Given the description of an element on the screen output the (x, y) to click on. 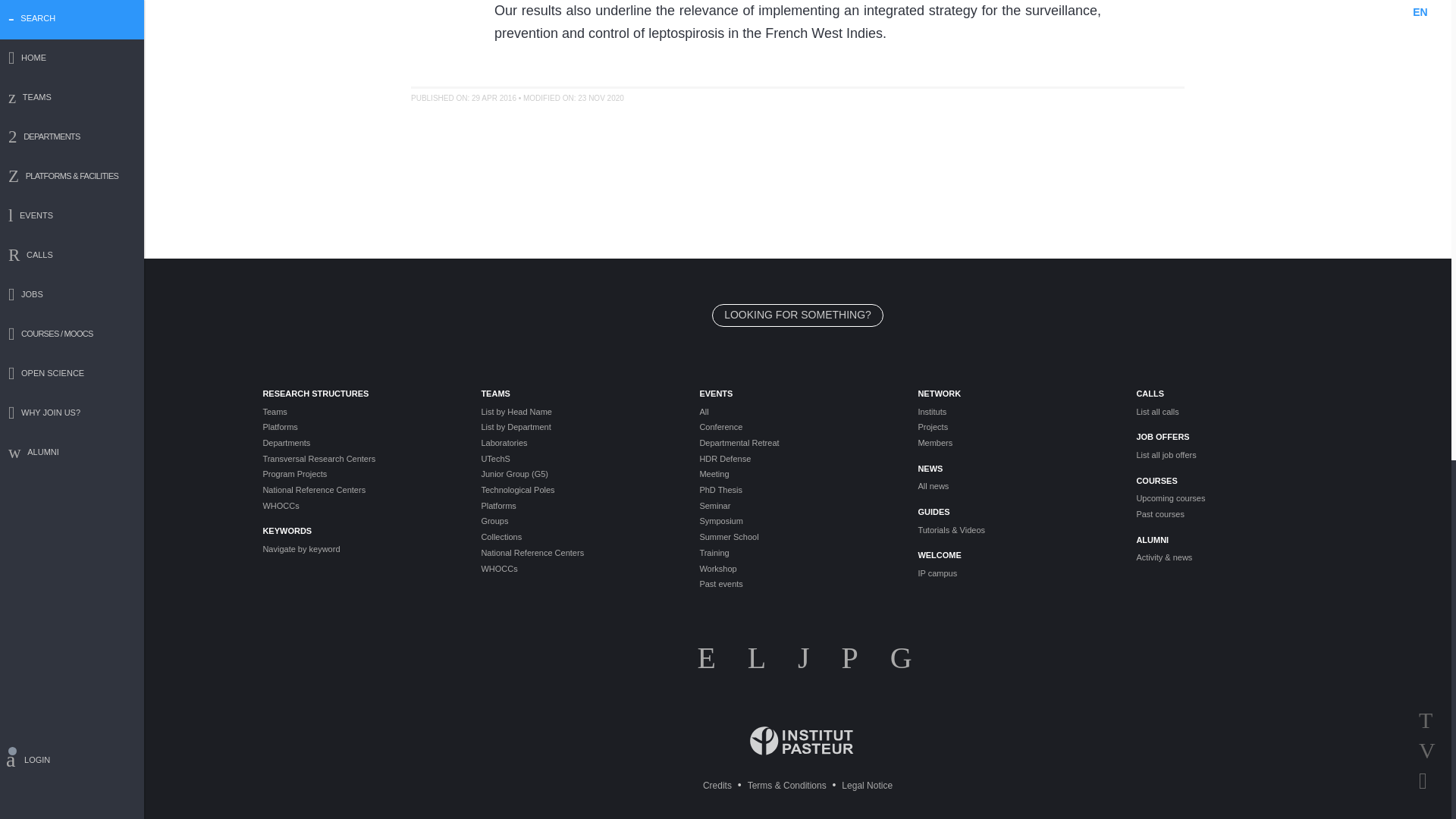
Teams (360, 411)
Platforms (360, 427)
